Given the description of an element on the screen output the (x, y) to click on. 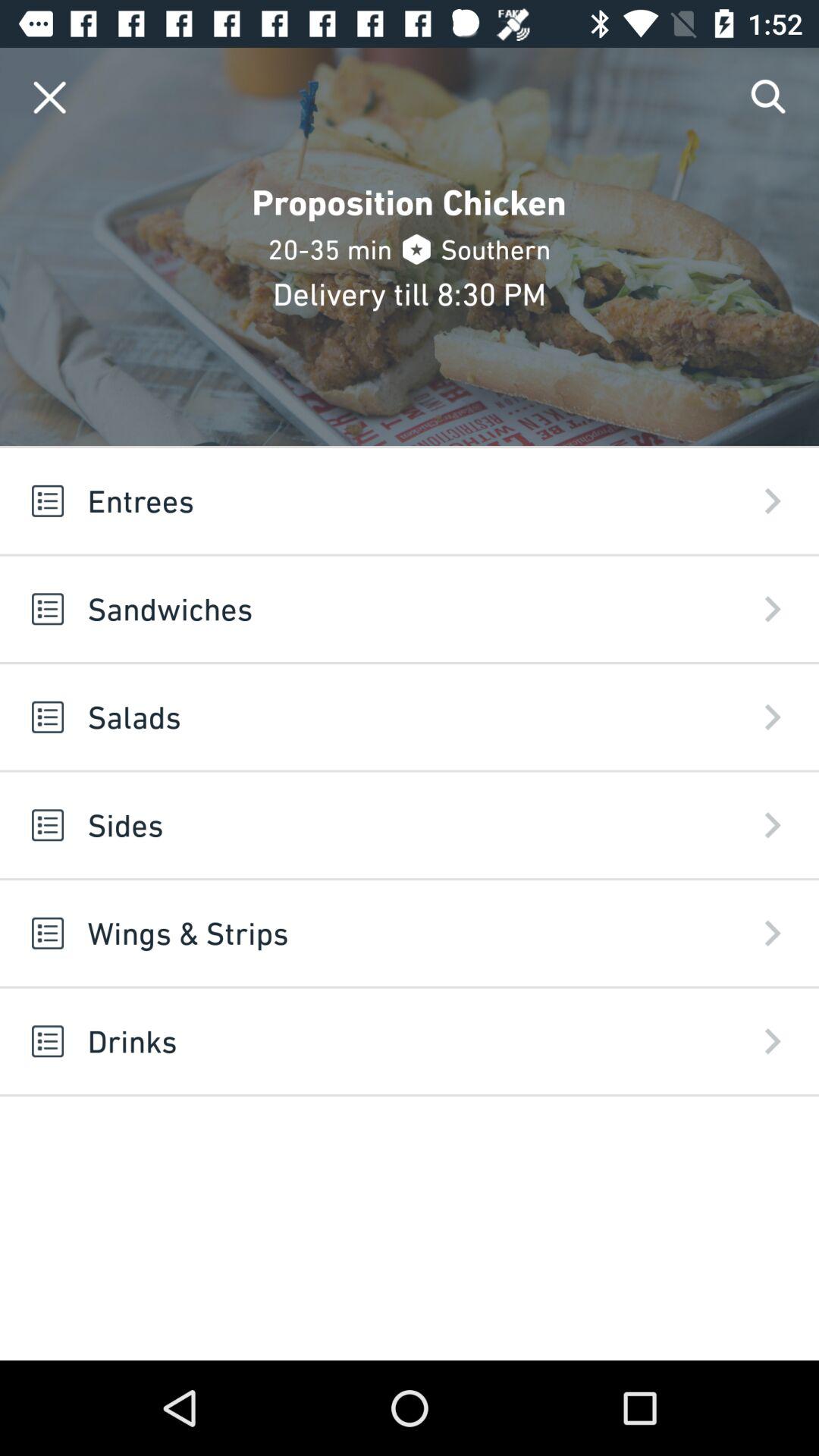
exit (49, 97)
